Given the description of an element on the screen output the (x, y) to click on. 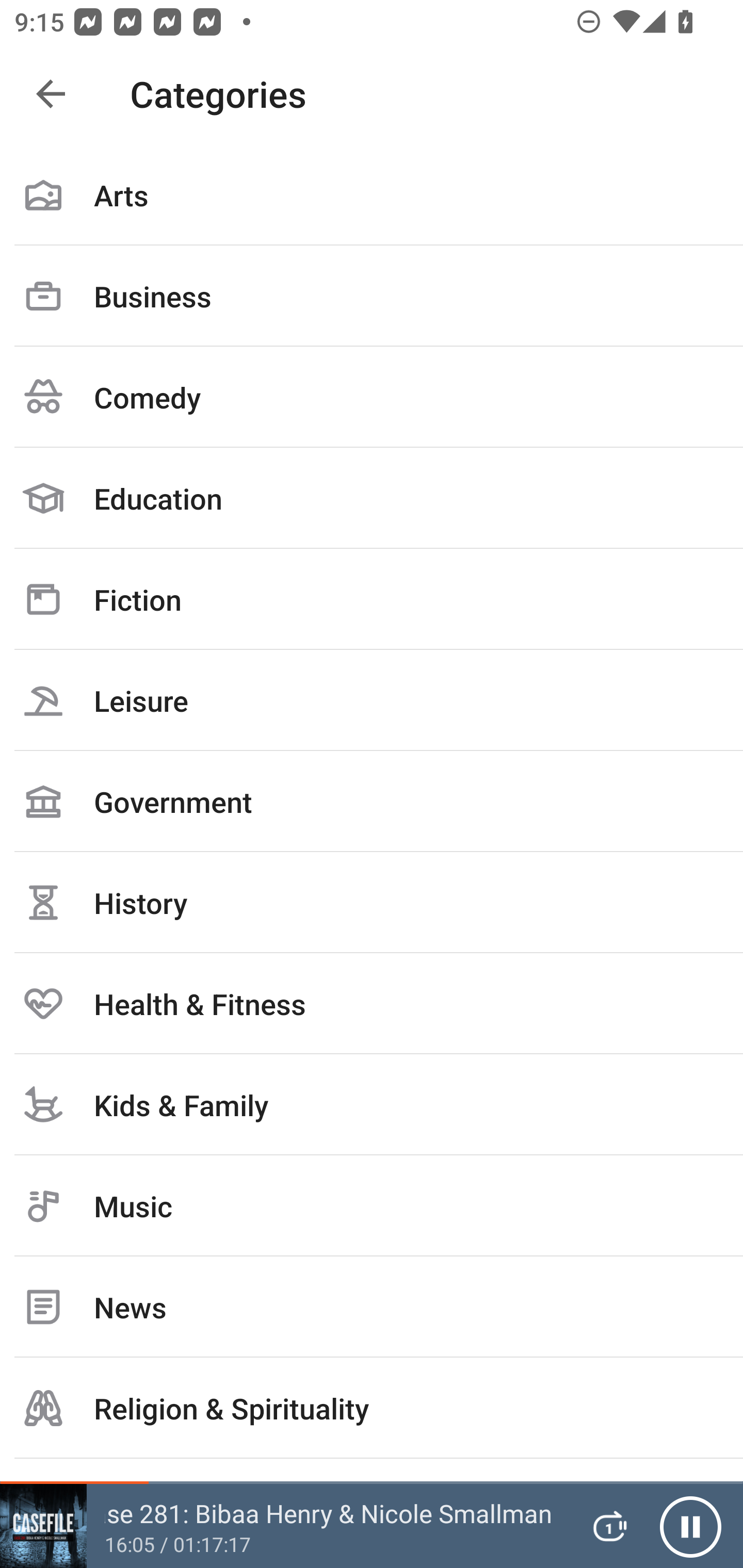
Navigate up (50, 93)
Arts (371, 195)
Business (371, 296)
Comedy (371, 397)
Education (371, 498)
Fiction (371, 598)
Leisure (371, 700)
Government (371, 801)
History (371, 902)
Health & Fitness (371, 1003)
Kids & Family (371, 1104)
Music (371, 1205)
News (371, 1306)
Religion & Spirituality (371, 1407)
Pause (690, 1526)
